Given the description of an element on the screen output the (x, y) to click on. 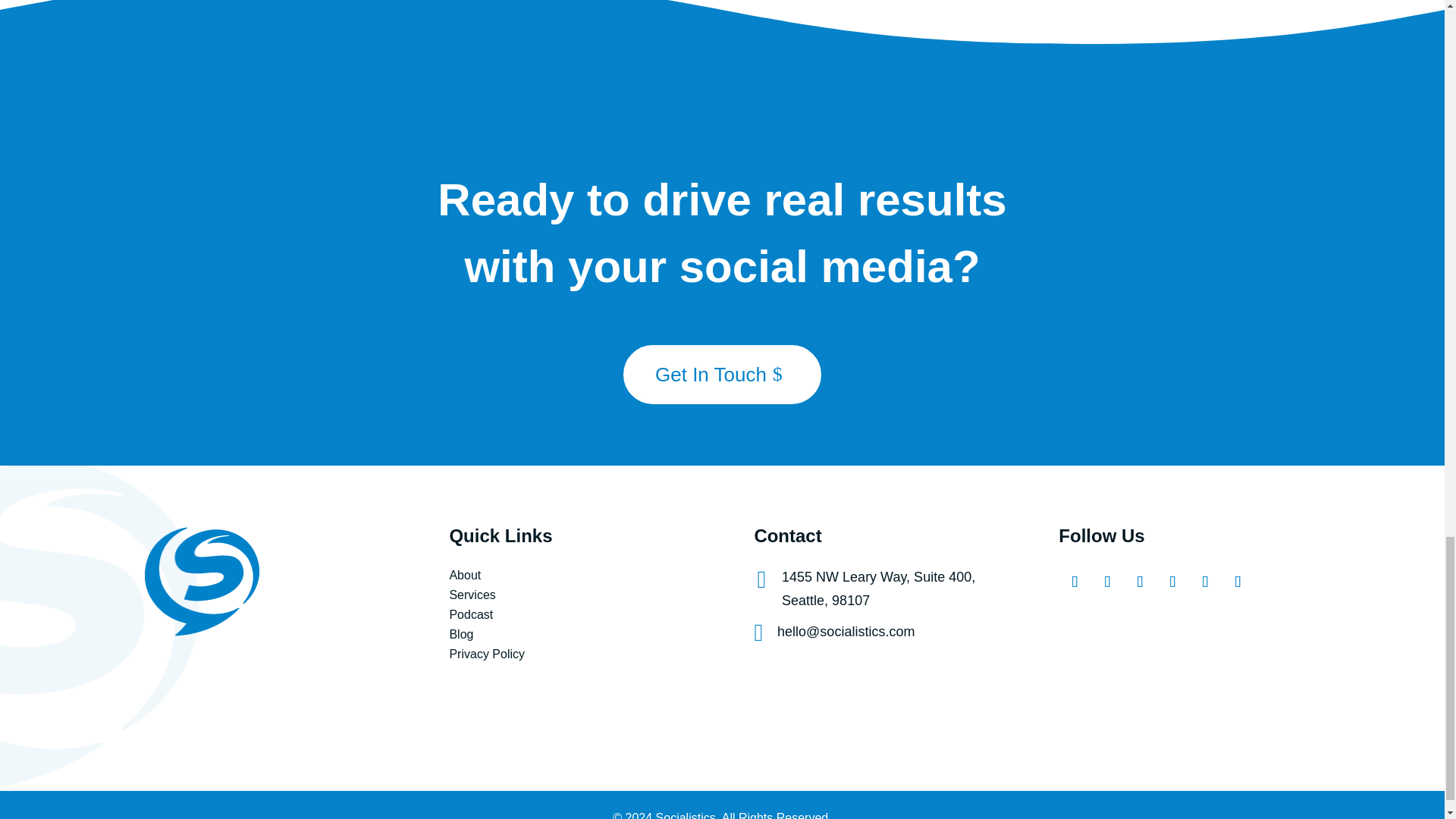
Follow on X (1137, 578)
Follow on Youtube (1169, 578)
Follow on Instagram (1104, 578)
Follow on Facebook (1071, 578)
Follow on LinkedIn (1202, 578)
dot-pattern-3 (48, 66)
dot-pattern-3 (1396, 397)
